Given the description of an element on the screen output the (x, y) to click on. 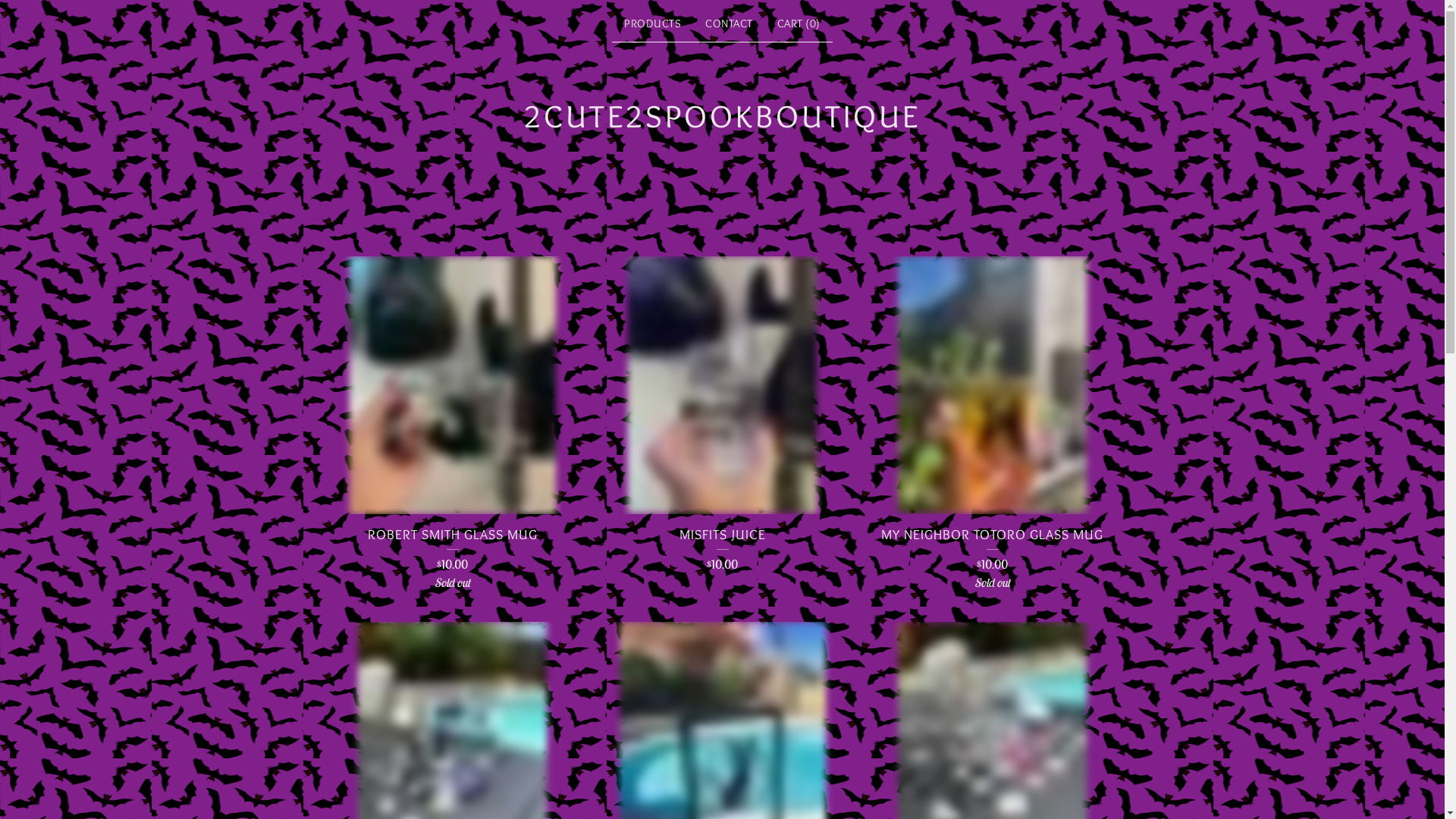
CONTACT Element type: text (729, 23)
CART (0) Element type: text (798, 23)
ROBERT SMITH GLASS MUG
$10.00
Sold out Element type: text (451, 429)
PRODUCTS Element type: text (652, 23)
MISFITS JUICE
$10.00 Element type: text (721, 420)
MY NEIGHBOR TOTORO GLASS MUG
$10.00
Sold out Element type: text (991, 429)
2CUTE2SPOOKBOUTIQUE Element type: text (722, 115)
